Given the description of an element on the screen output the (x, y) to click on. 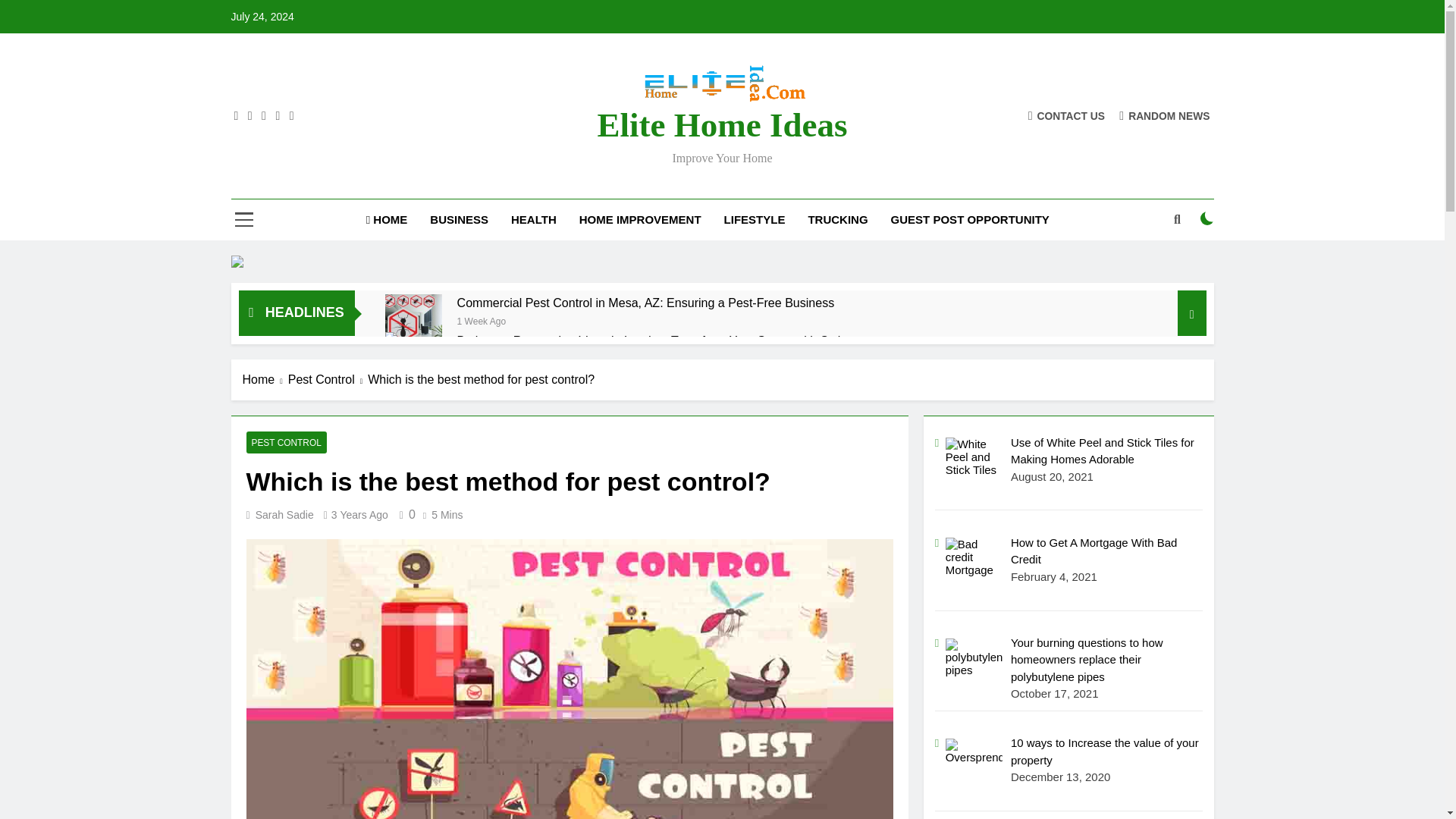
RANDOM NEWS (1164, 115)
CONTACT US (1066, 115)
Elite Home Ideas (721, 125)
on (1206, 218)
